Given the description of an element on the screen output the (x, y) to click on. 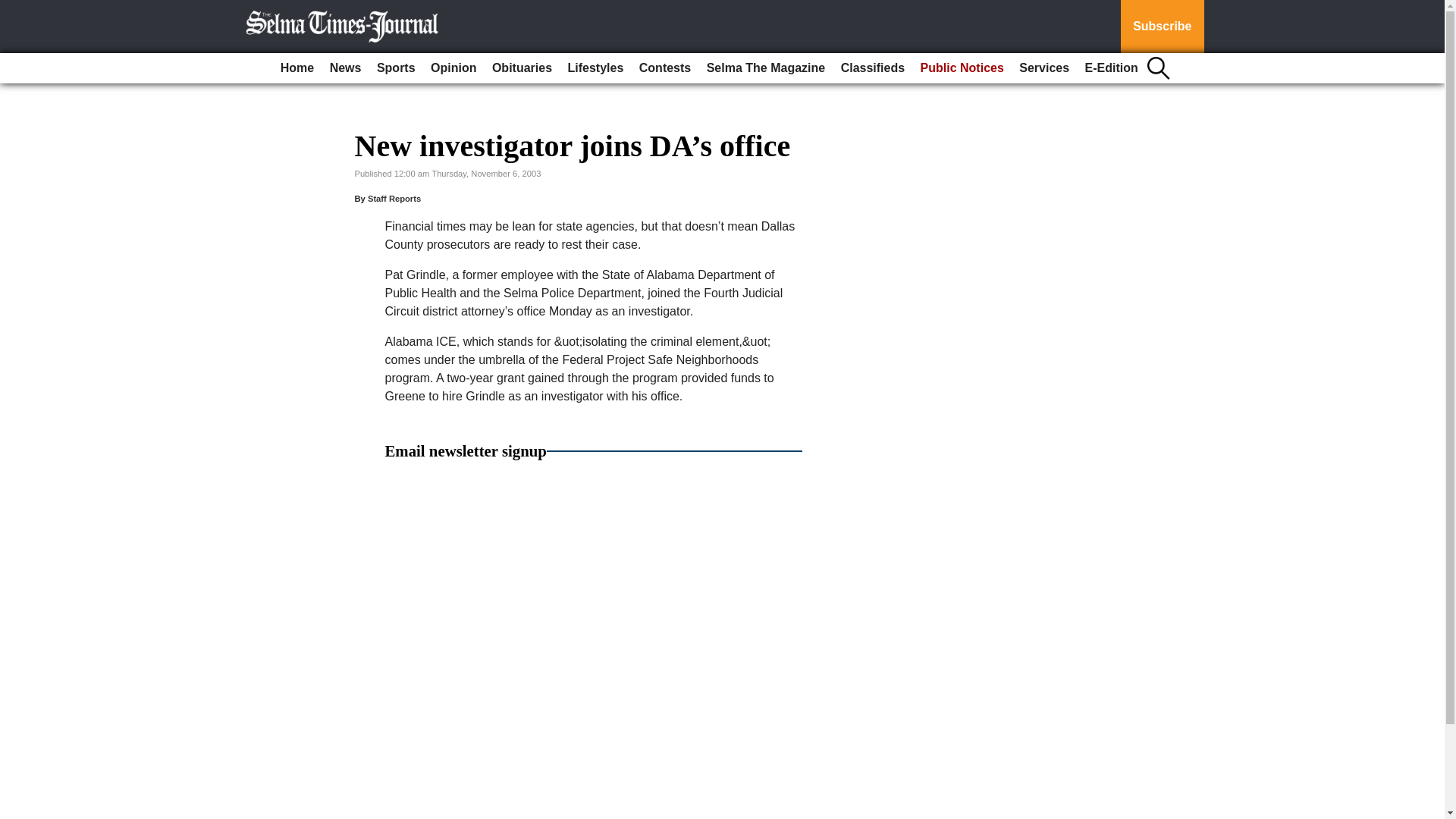
E-Edition (1111, 68)
Services (1044, 68)
Staff Reports (394, 198)
Home (297, 68)
Classifieds (872, 68)
Sports (396, 68)
Contests (665, 68)
Lifestyles (596, 68)
Public Notices (962, 68)
News (345, 68)
Subscribe (1162, 26)
Go (13, 9)
Selma The Magazine (765, 68)
Obituaries (521, 68)
Opinion (453, 68)
